Given the description of an element on the screen output the (x, y) to click on. 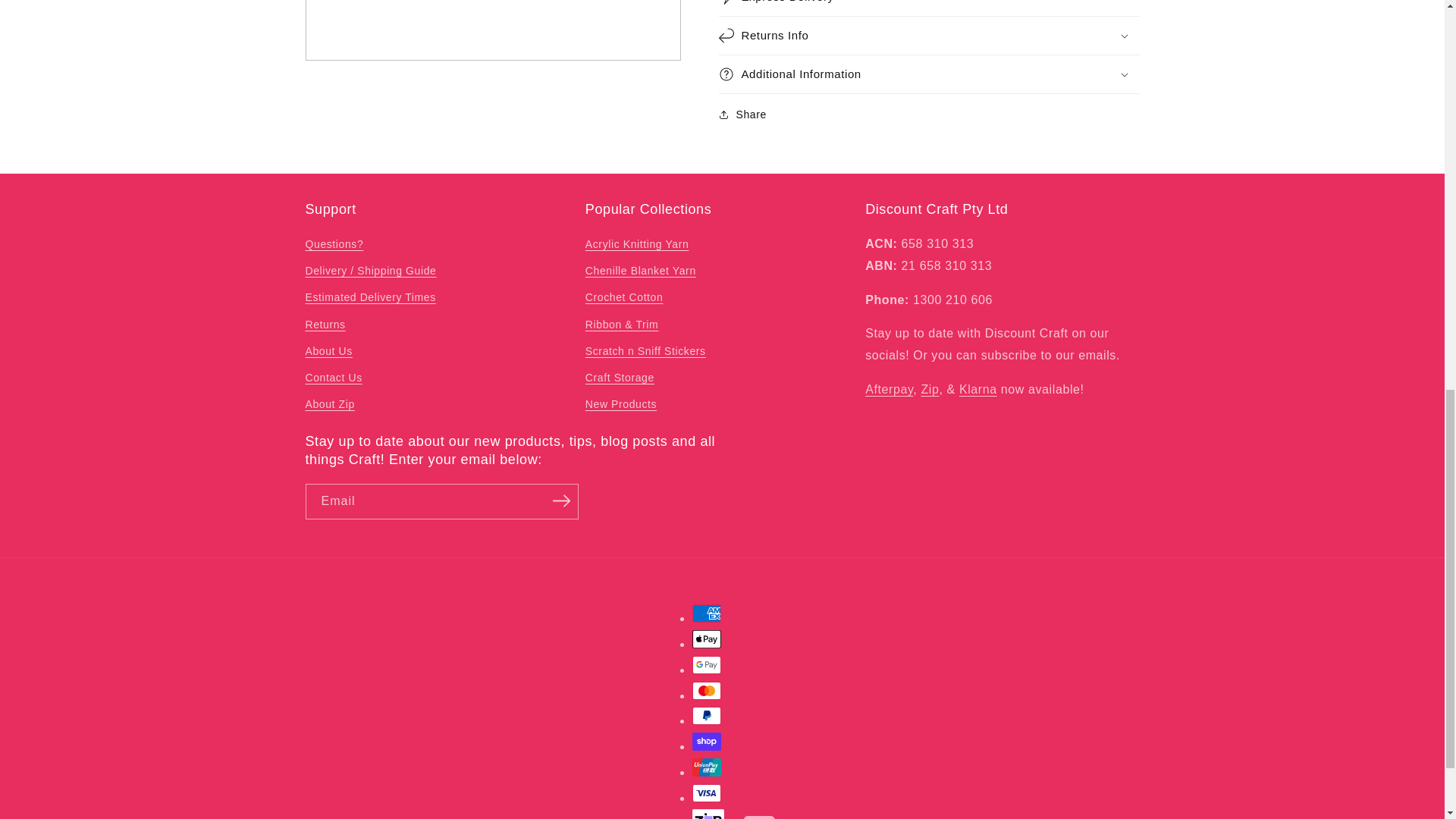
Returns (324, 325)
Estimated Delivery Times (369, 297)
Questions? (333, 246)
American Express (706, 613)
Klarna (978, 389)
Zip - Own it now, pay later (929, 389)
Afterpay (888, 389)
